Given the description of an element on the screen output the (x, y) to click on. 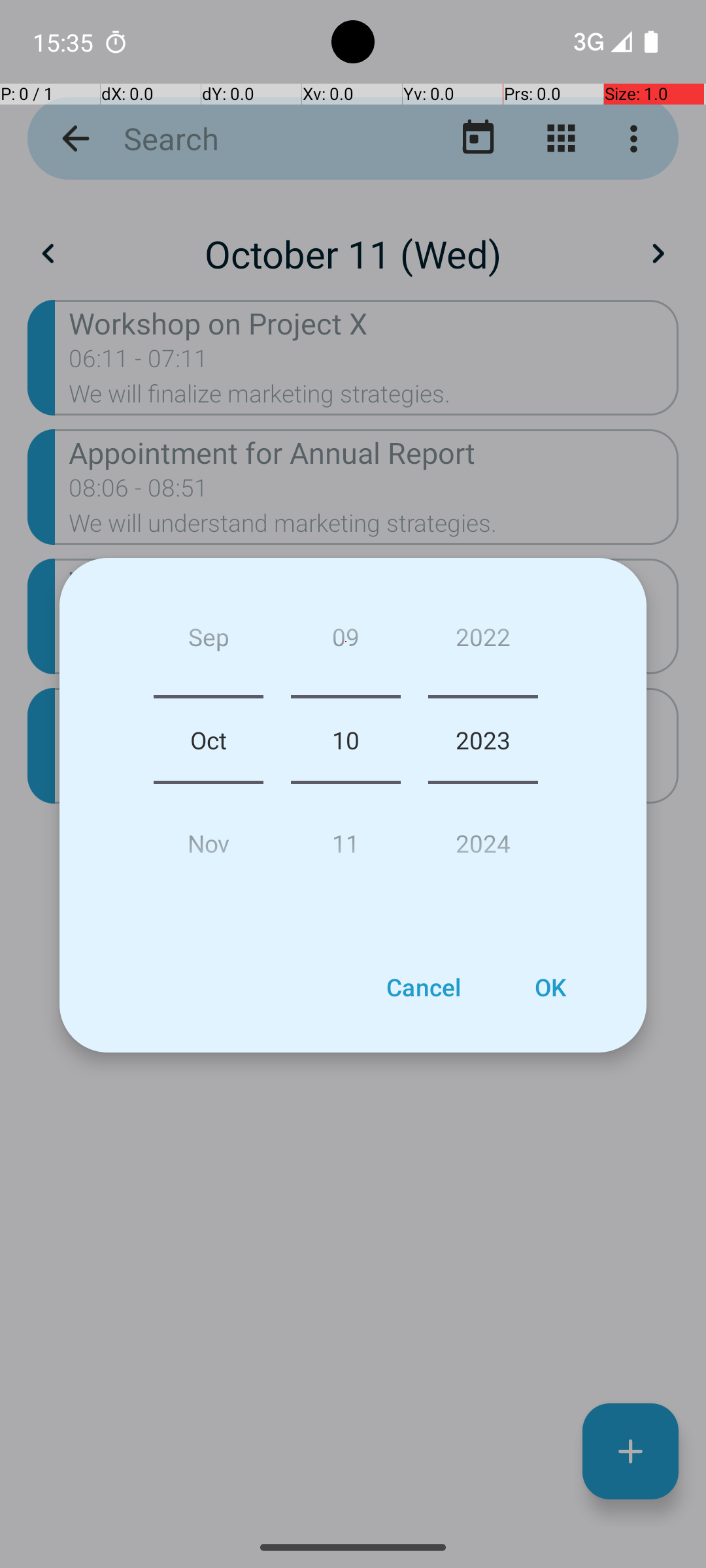
09 Element type: android.widget.Button (345, 641)
